Given the description of an element on the screen output the (x, y) to click on. 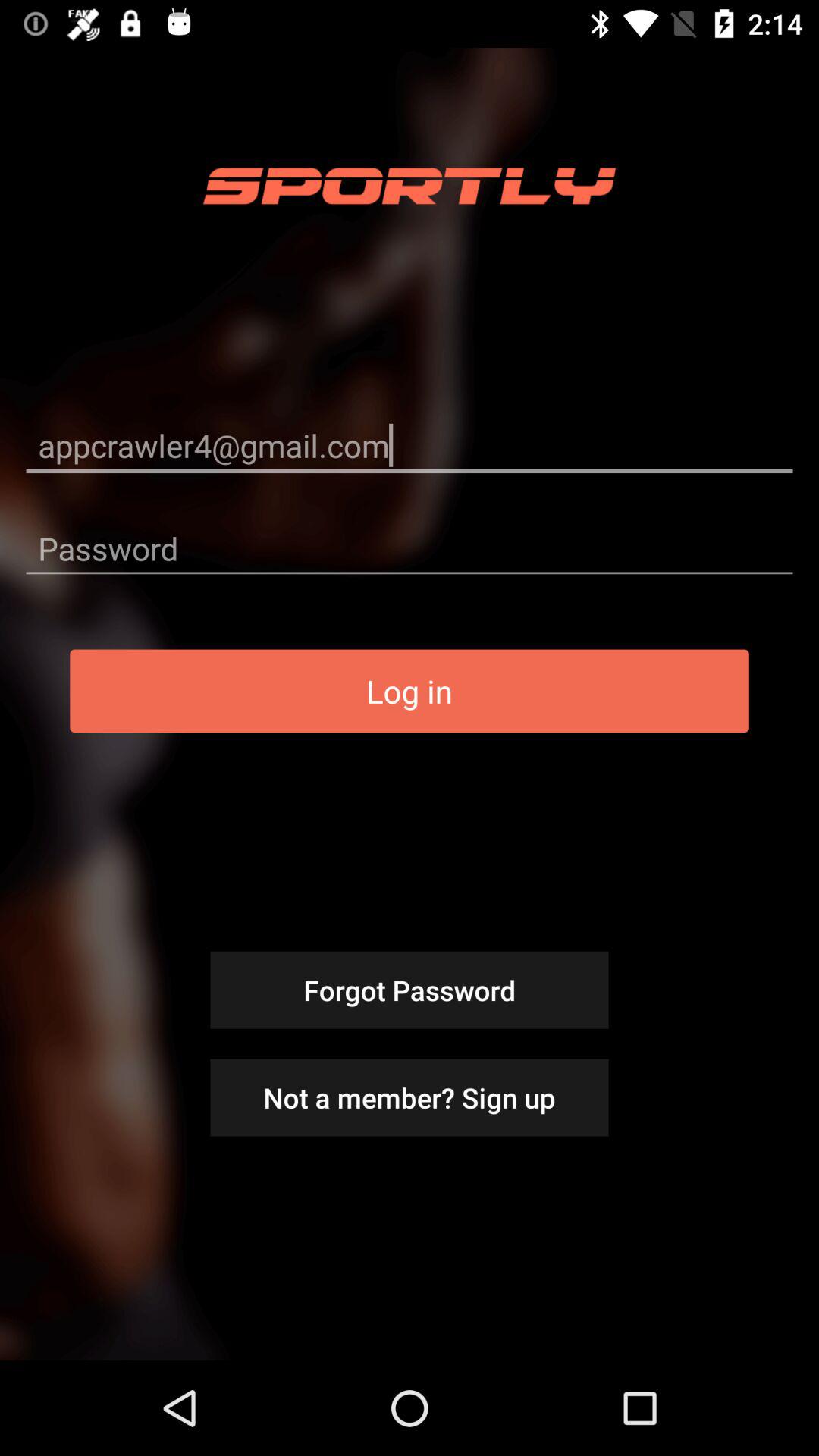
swipe until appcrawler4@gmail.com (409, 444)
